Given the description of an element on the screen output the (x, y) to click on. 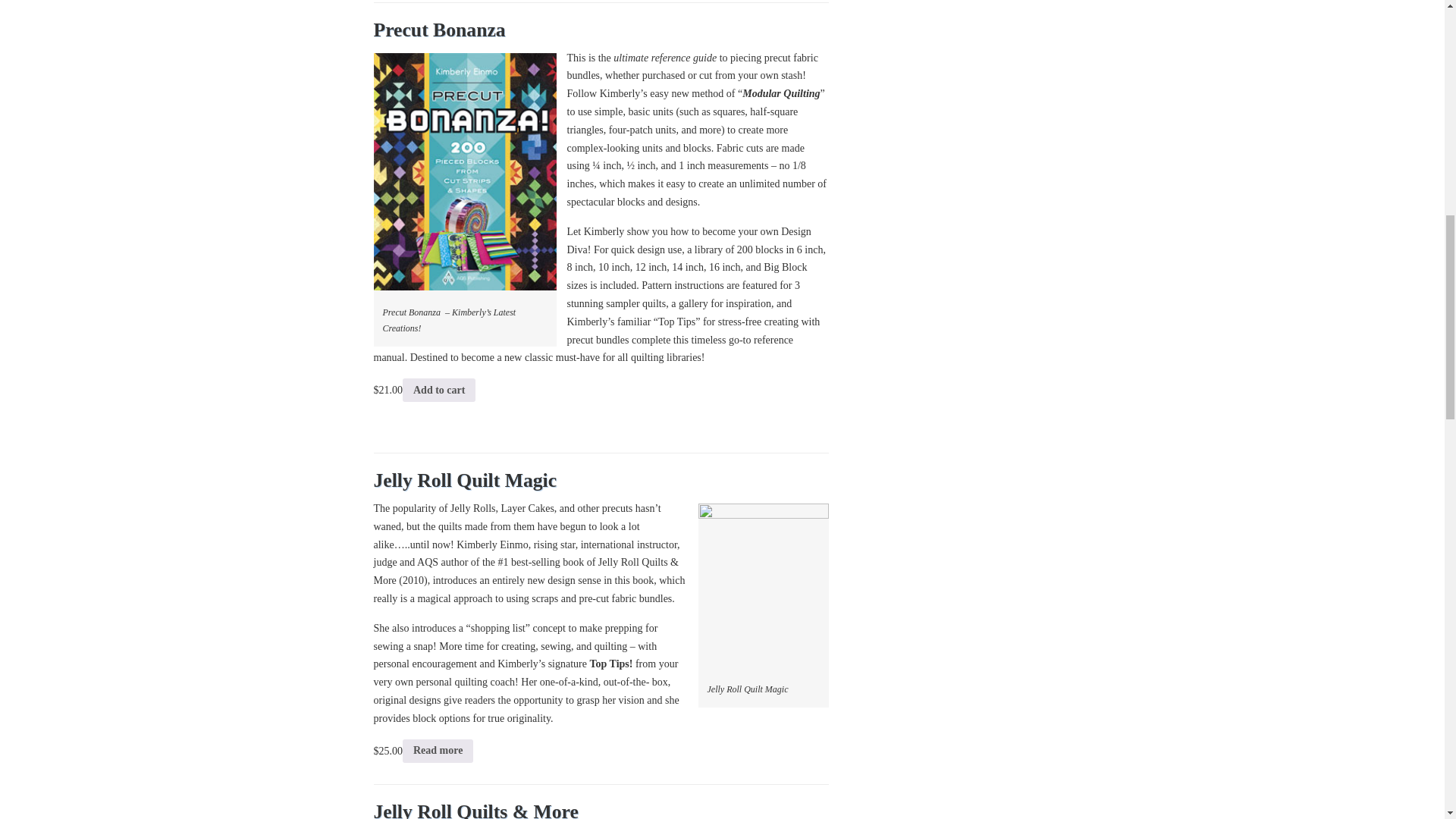
Add to cart (439, 390)
Read more (438, 750)
